Given the description of an element on the screen output the (x, y) to click on. 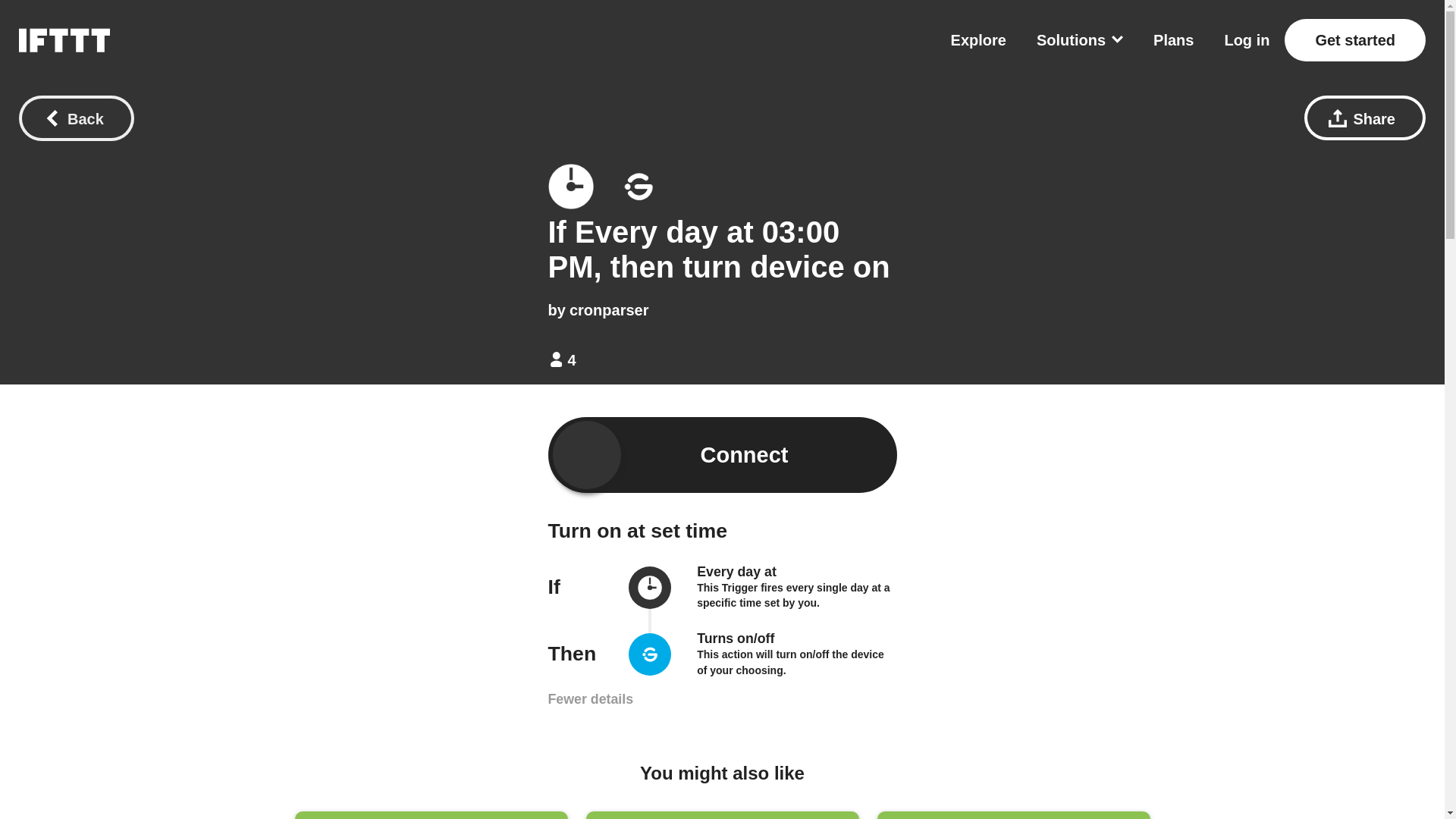
cronparser (609, 310)
Explore (978, 39)
Share (1364, 117)
Back (75, 117)
Every day at (736, 571)
Plans (1173, 39)
Fewer details (590, 699)
Explore (978, 39)
